Given the description of an element on the screen output the (x, y) to click on. 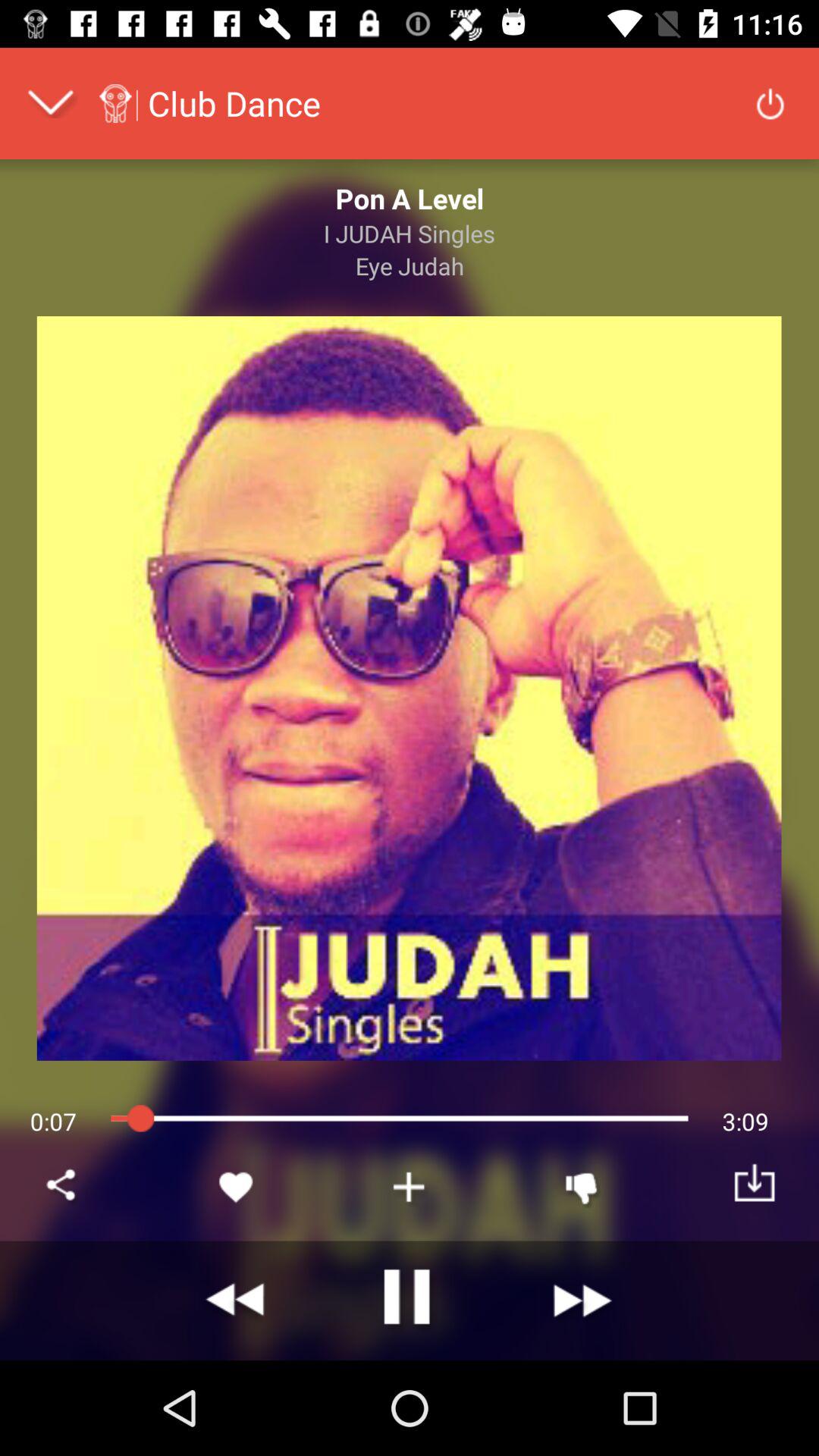
like song option (236, 1186)
